Given the description of an element on the screen output the (x, y) to click on. 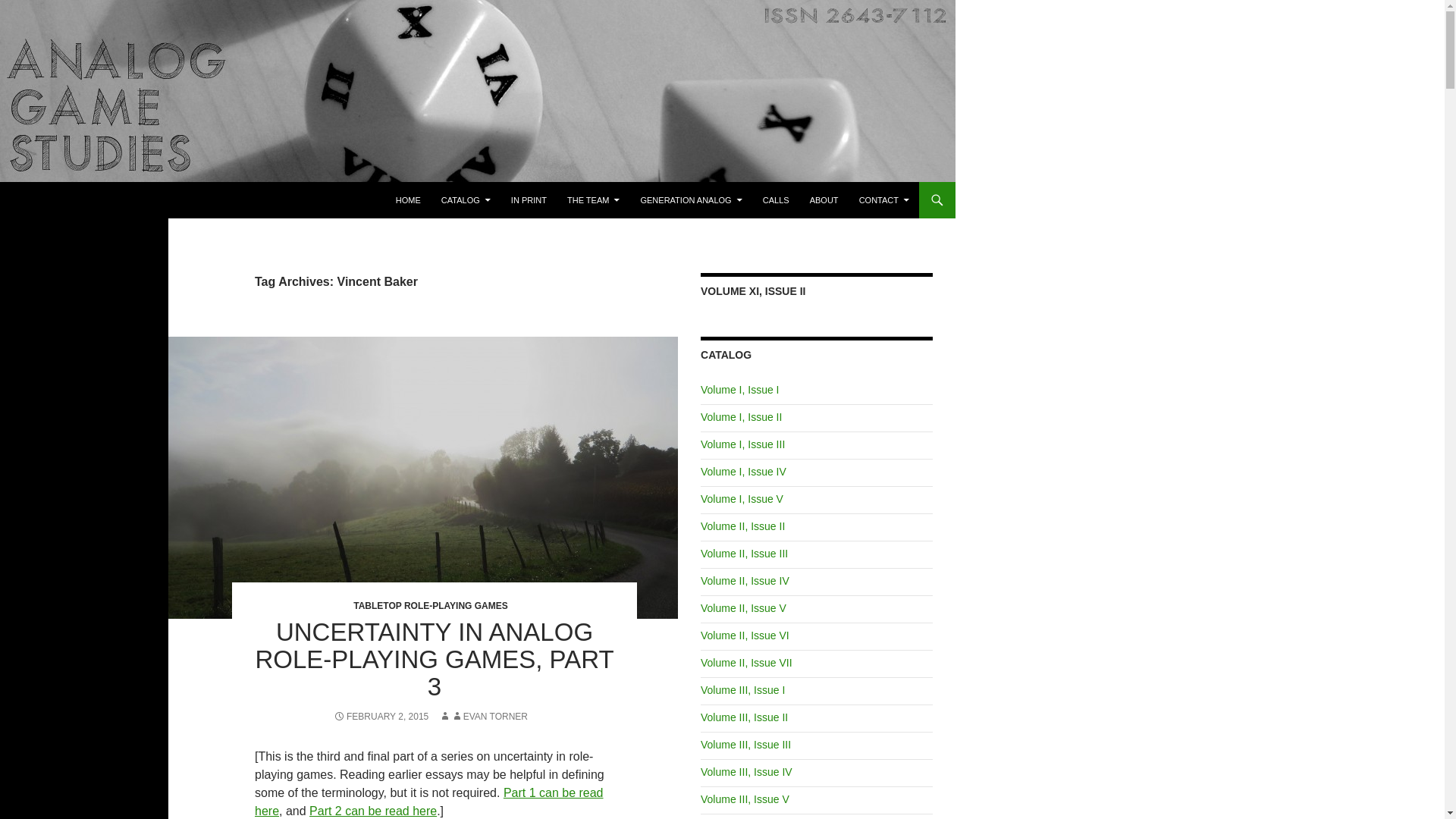
Volume XI, Issue II (752, 291)
Volume I, Issue V (741, 499)
Volume I, Issue I (739, 389)
Volume I, Issue II (740, 417)
Volume II, Issue III (743, 553)
Volume II, Issue VII (746, 662)
Volume II, Issue IV (744, 580)
Analog Game Studies (93, 199)
Uncertainty in Analog Role-Playing Games, Part 1 (429, 801)
Uncertainty in Analog Role-Playing Games, Part 2 (372, 810)
Volume II, Issue VI (744, 635)
CATALOG (465, 199)
HOME (408, 199)
Volume II, Issue II (742, 526)
